Given the description of an element on the screen output the (x, y) to click on. 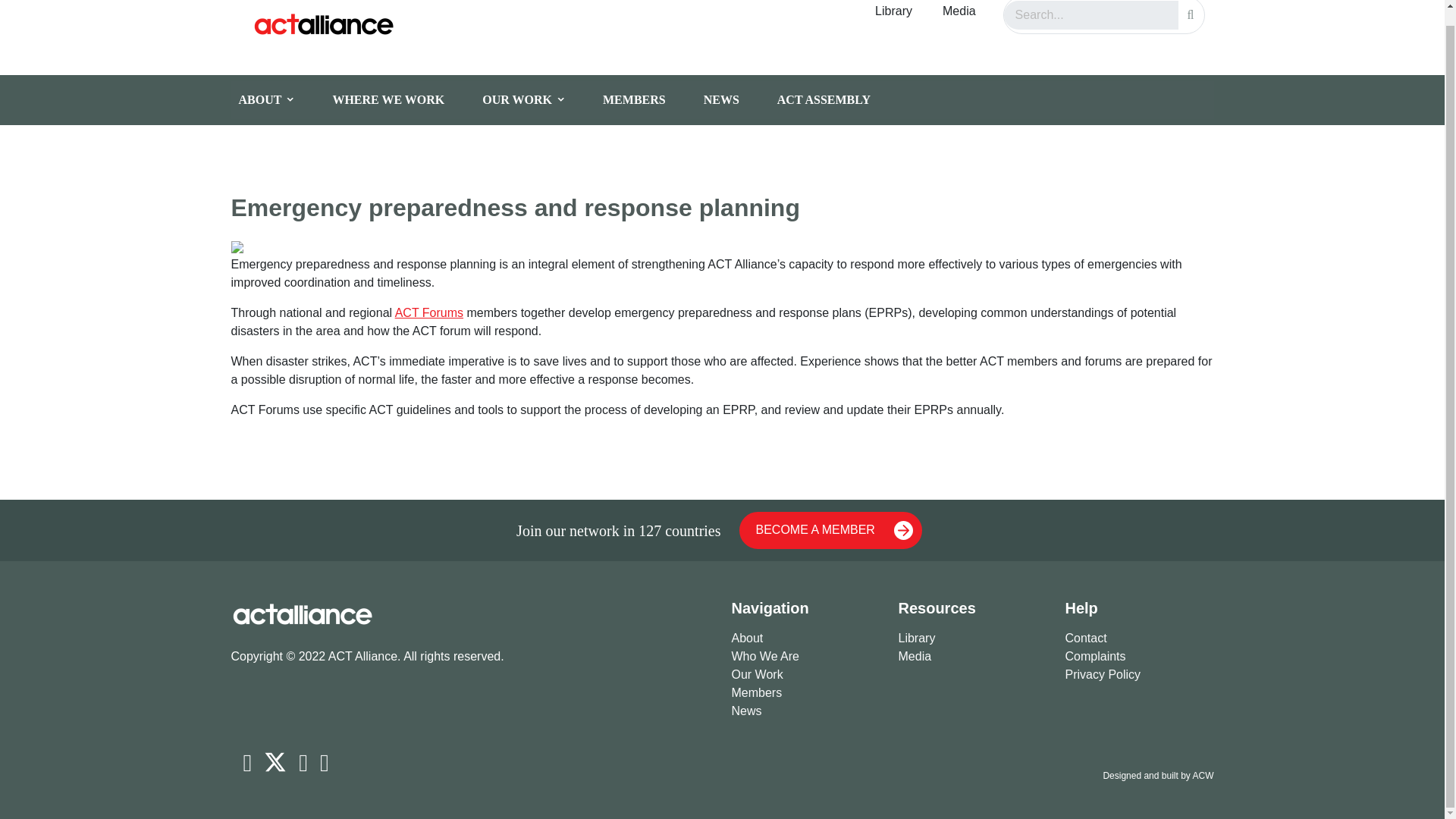
MEMBERS (645, 99)
WHERE WE WORK (399, 99)
Library (893, 13)
ACT ASSEMBLY (835, 99)
ABOUT (277, 99)
Complaints (1138, 656)
Contact (1138, 638)
About (804, 638)
Library (972, 638)
Media (959, 13)
